Given the description of an element on the screen output the (x, y) to click on. 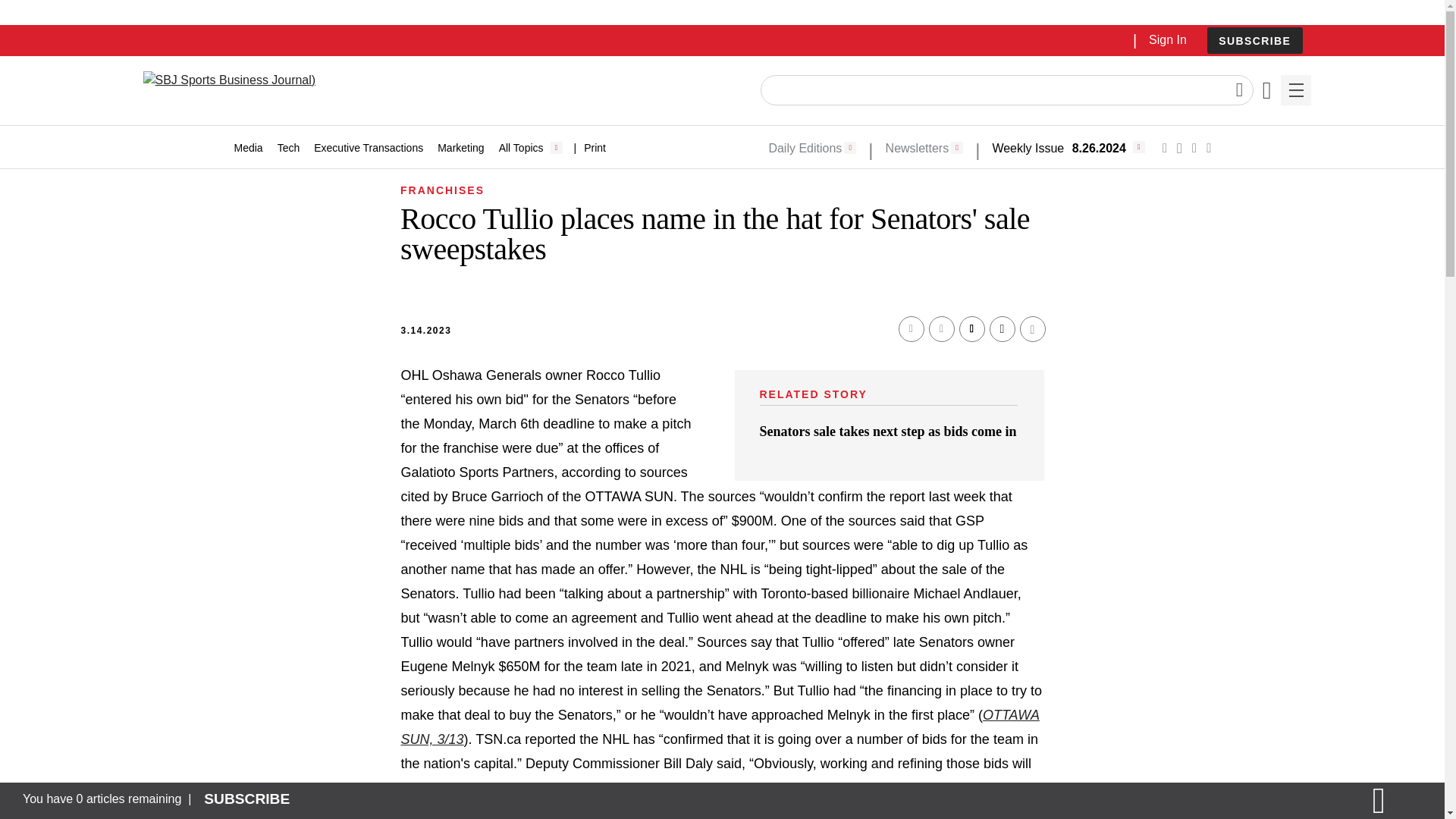
SUBSCRIBE (1255, 40)
SIGN IN (1194, 324)
Menu (1294, 90)
SUBSCRIBE (1254, 40)
Sign In (1167, 40)
